Given the description of an element on the screen output the (x, y) to click on. 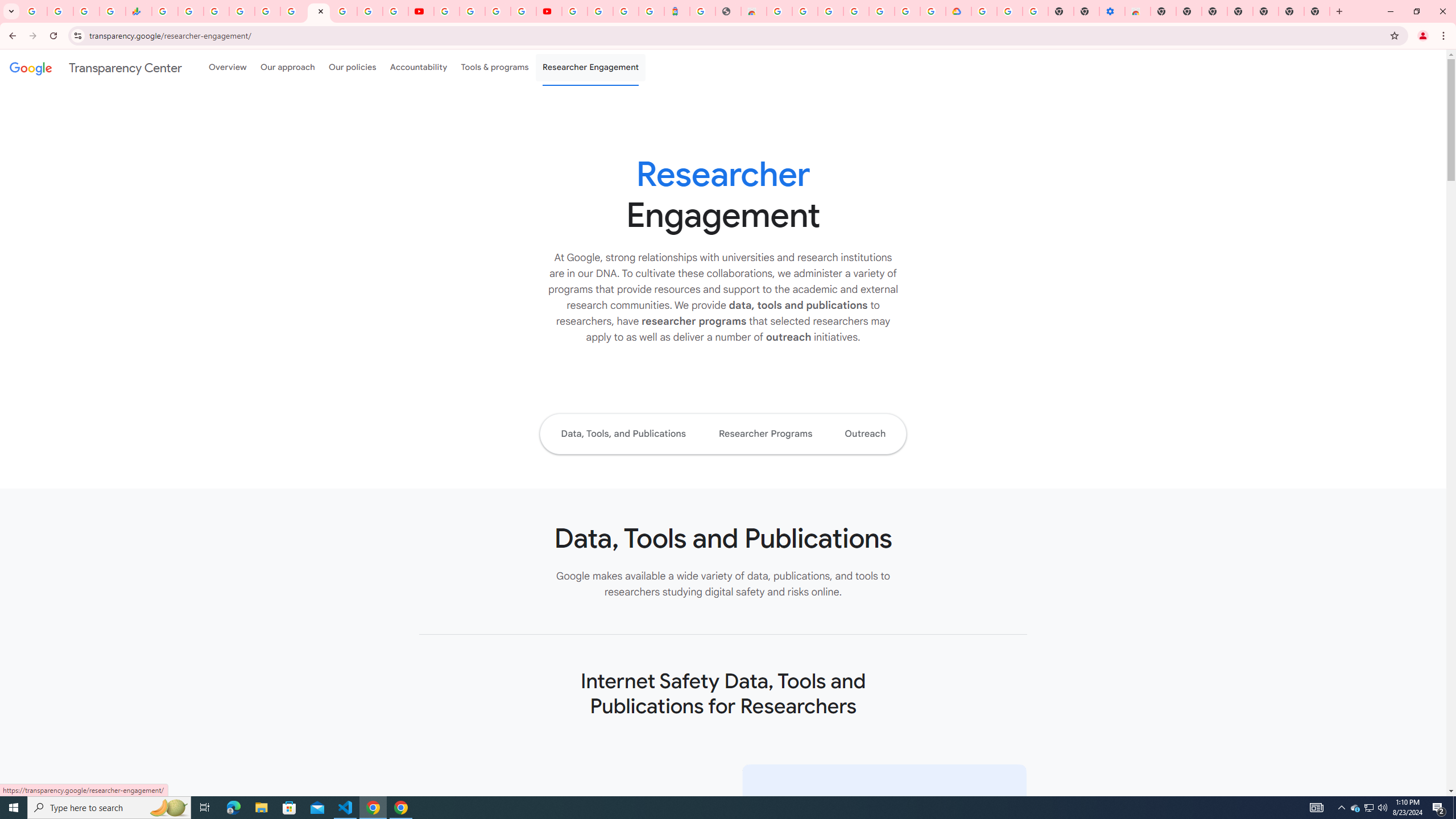
Chrome Web Store - Accessibility extensions (1137, 11)
Researcher Programs (764, 433)
Tools & programs (494, 67)
YouTube (421, 11)
Google Researcher Engagement - Transparency Center (318, 11)
Data, Tools, and Publications (622, 433)
